Given the description of an element on the screen output the (x, y) to click on. 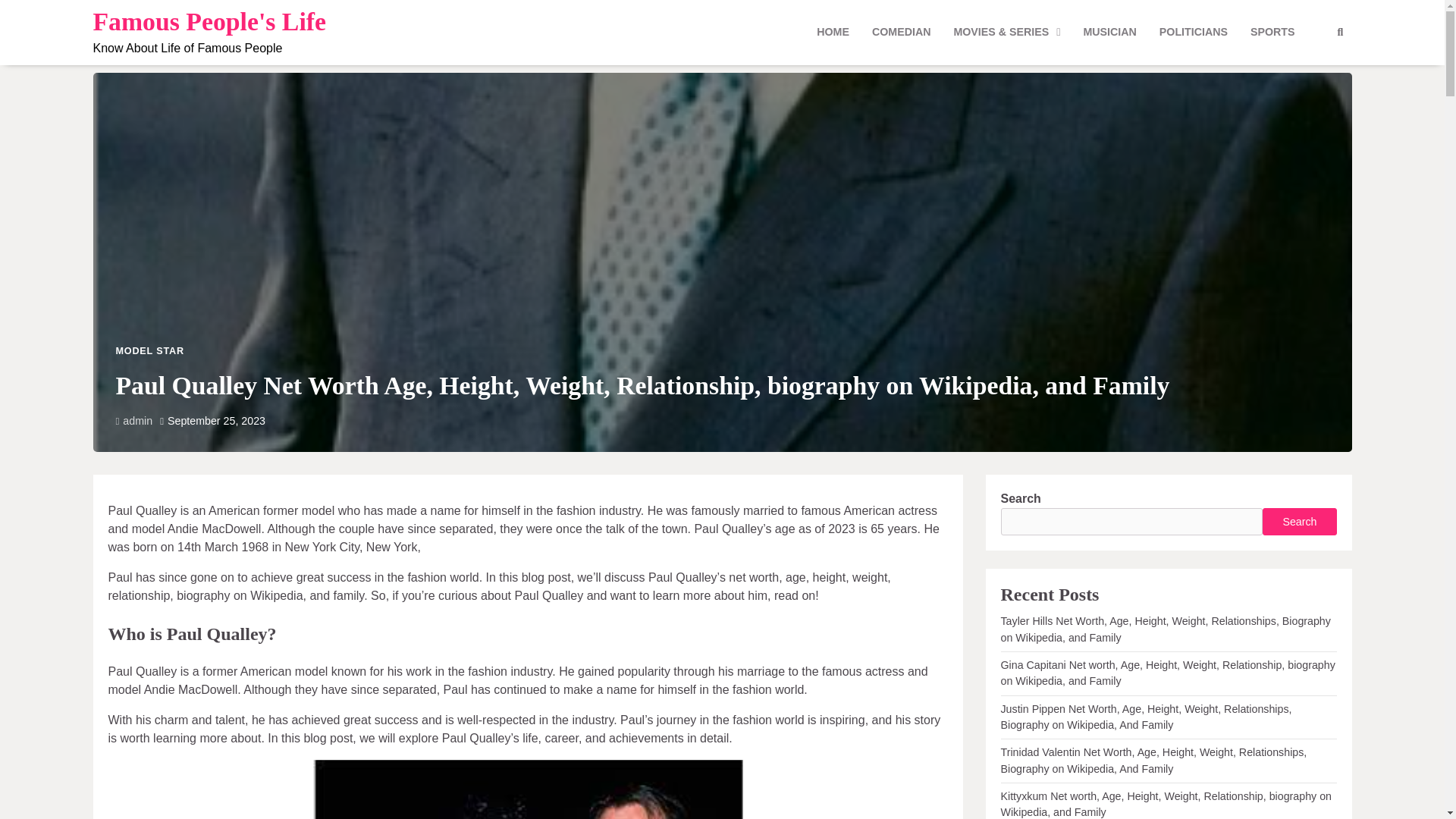
COMEDIAN (901, 32)
POLITICIANS (1193, 32)
SPORTS (1272, 32)
admin (133, 420)
MUSICIAN (1109, 32)
Famous People's Life (208, 21)
HOME (832, 32)
Search (1312, 68)
Search (1299, 521)
MODEL STAR (149, 350)
Search (1339, 32)
